Given the description of an element on the screen output the (x, y) to click on. 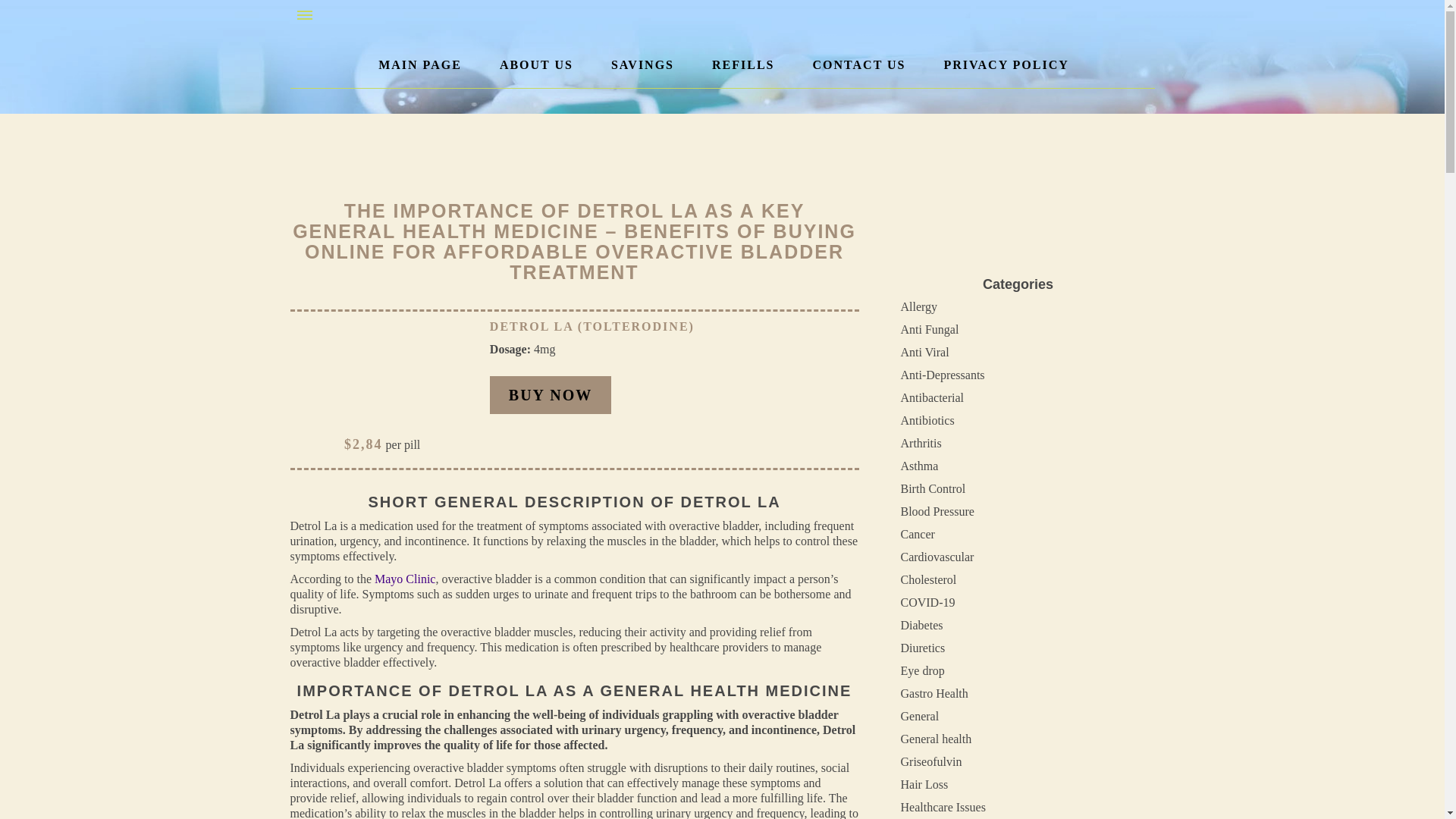
BUY NOW (550, 394)
Griseofulvin (931, 761)
Diuretics (922, 647)
Anti Viral (925, 351)
Diabetes (922, 625)
Birth Control (933, 488)
Eye drop (922, 670)
Antibiotics (928, 420)
Mayo Clinic (404, 578)
Arthritis (921, 442)
